Given the description of an element on the screen output the (x, y) to click on. 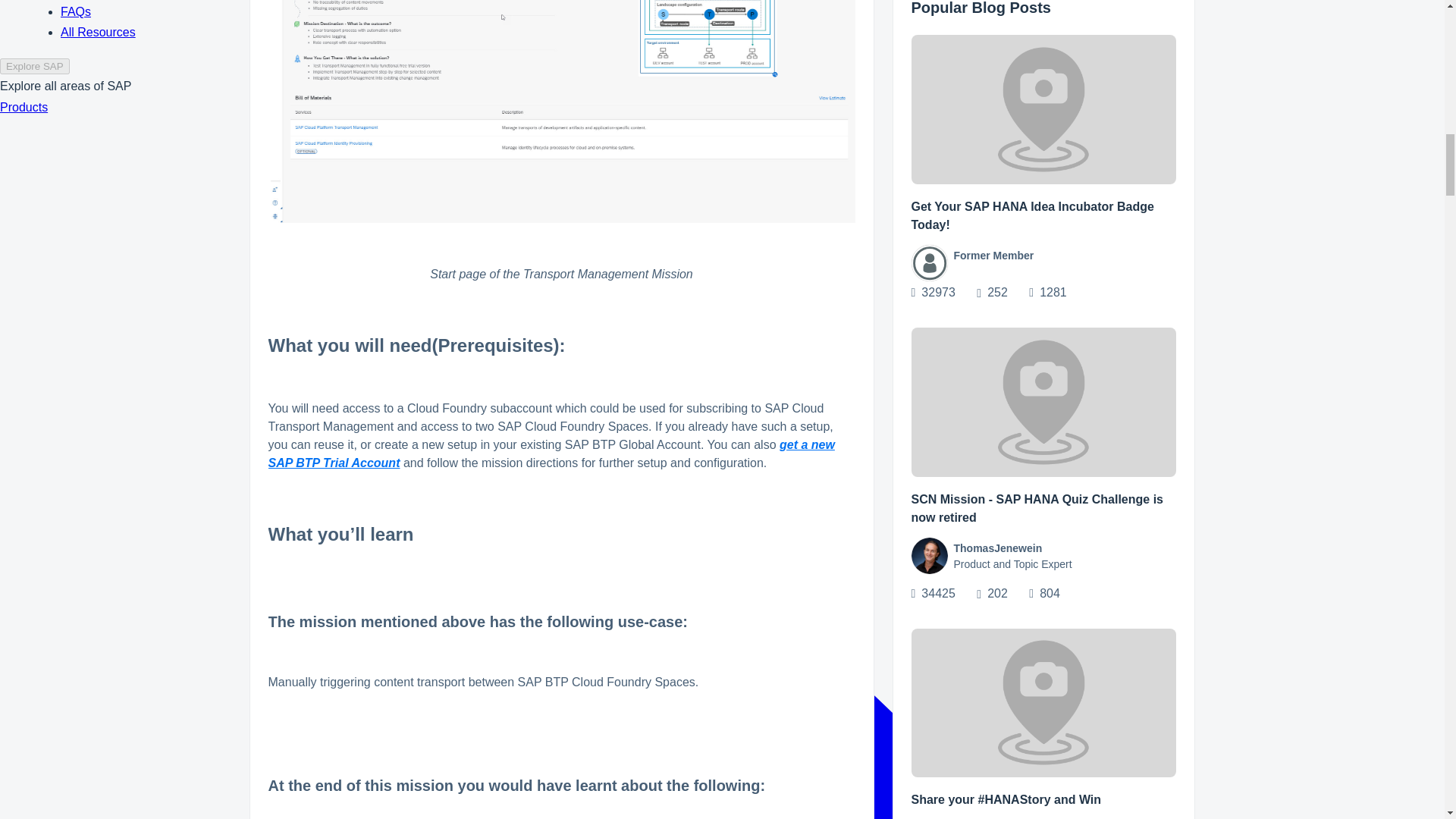
get a new SAP BTP Trial Account (550, 453)
